Given the description of an element on the screen output the (x, y) to click on. 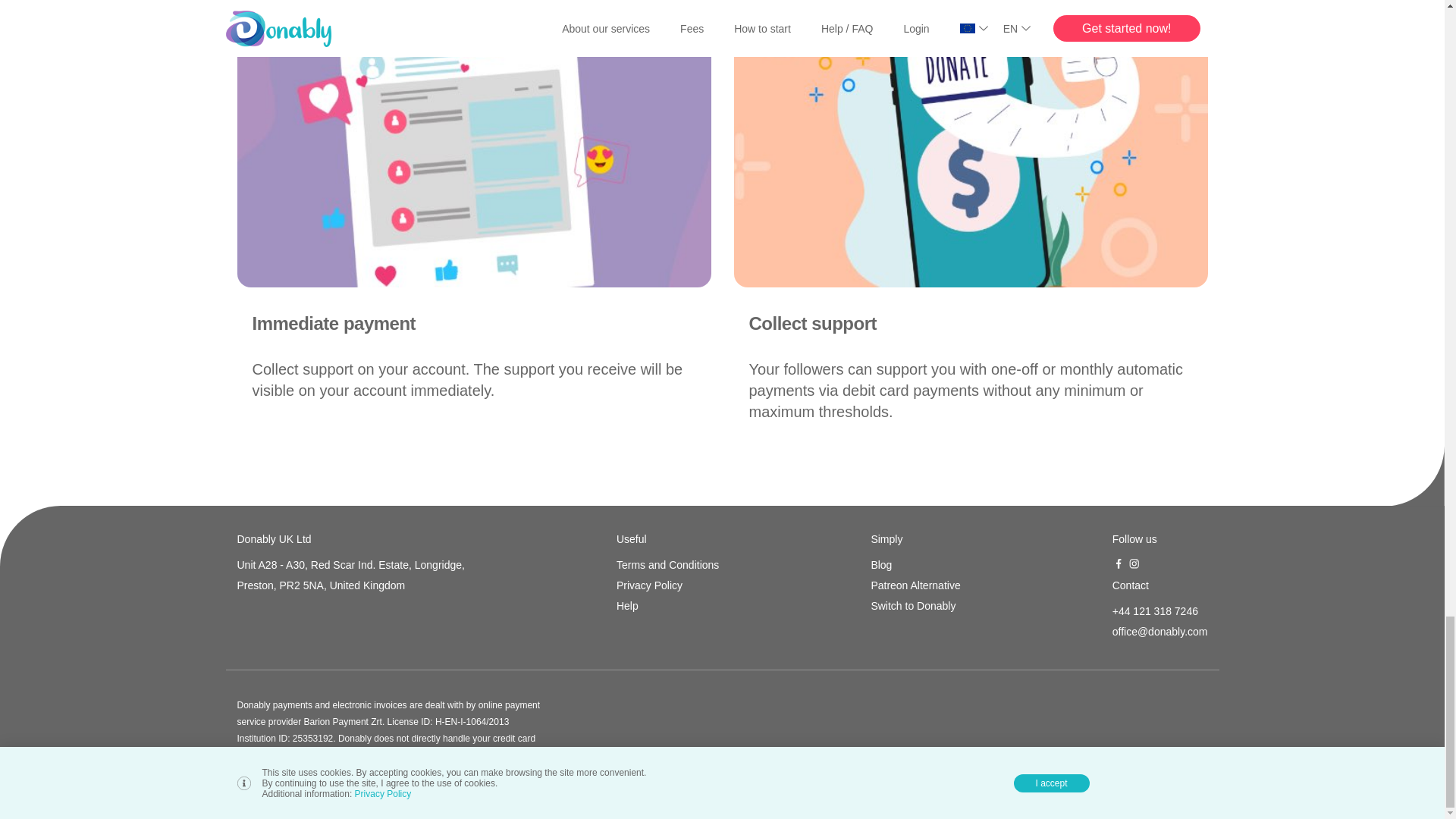
Terms and Conditions (667, 564)
Developed by: (1158, 779)
Privacy Policy (667, 585)
Switch to Donably (914, 605)
Help (667, 605)
Patreon Alternative (914, 585)
Blog (914, 564)
